Given the description of an element on the screen output the (x, y) to click on. 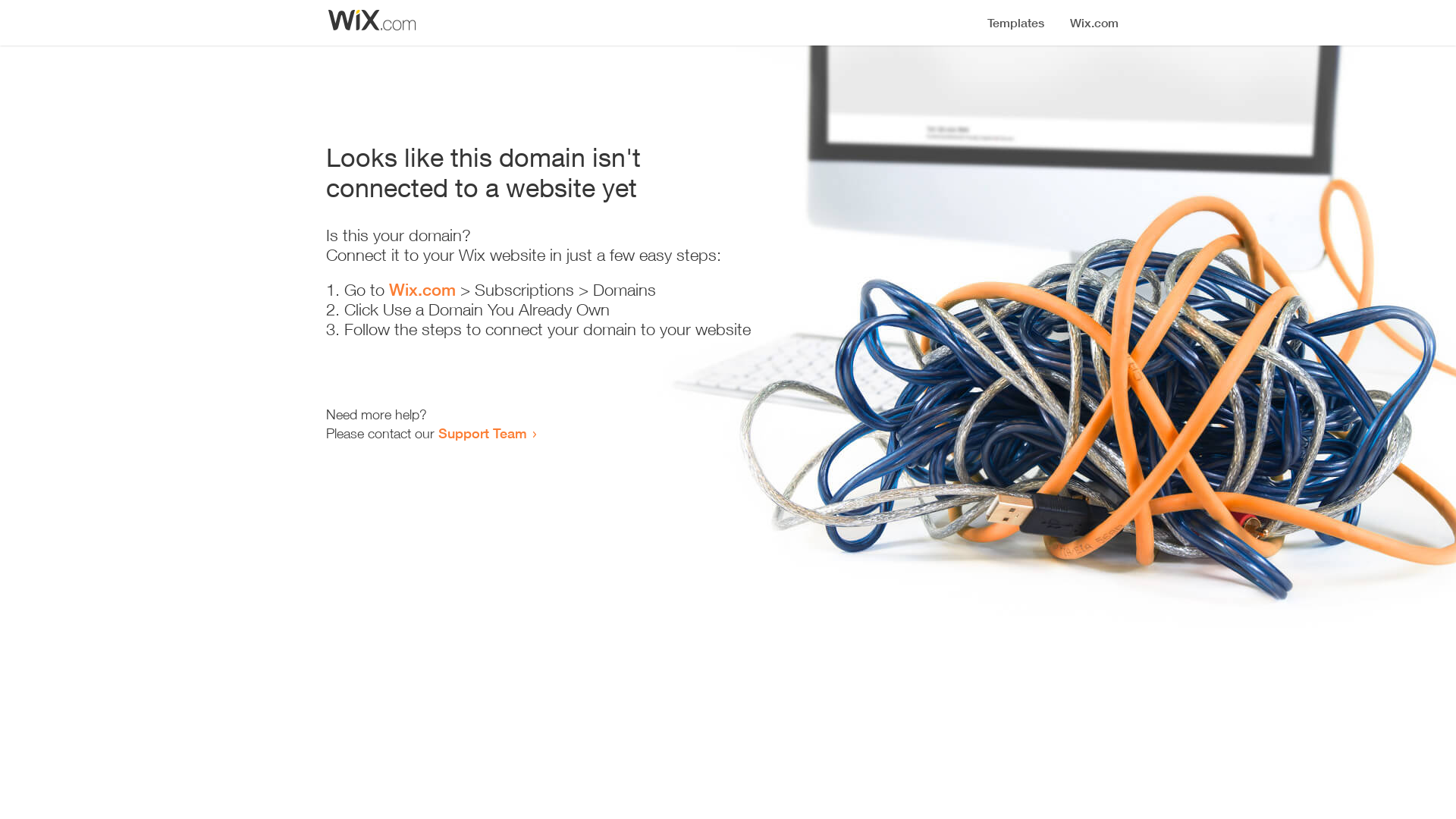
Support Team Element type: text (482, 432)
Wix.com Element type: text (422, 289)
